Given the description of an element on the screen output the (x, y) to click on. 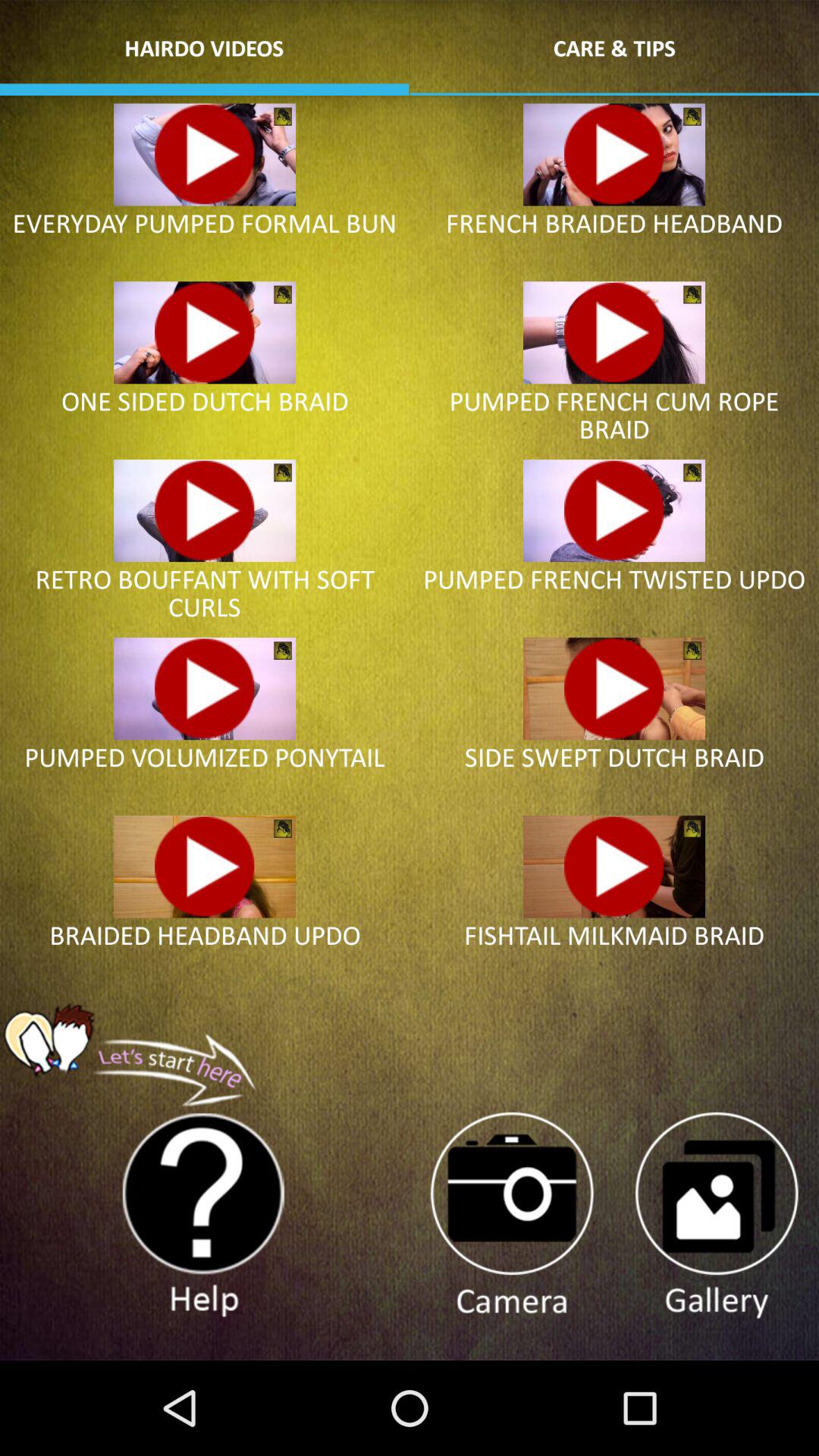
click on the help option (204, 1216)
